Given the description of an element on the screen output the (x, y) to click on. 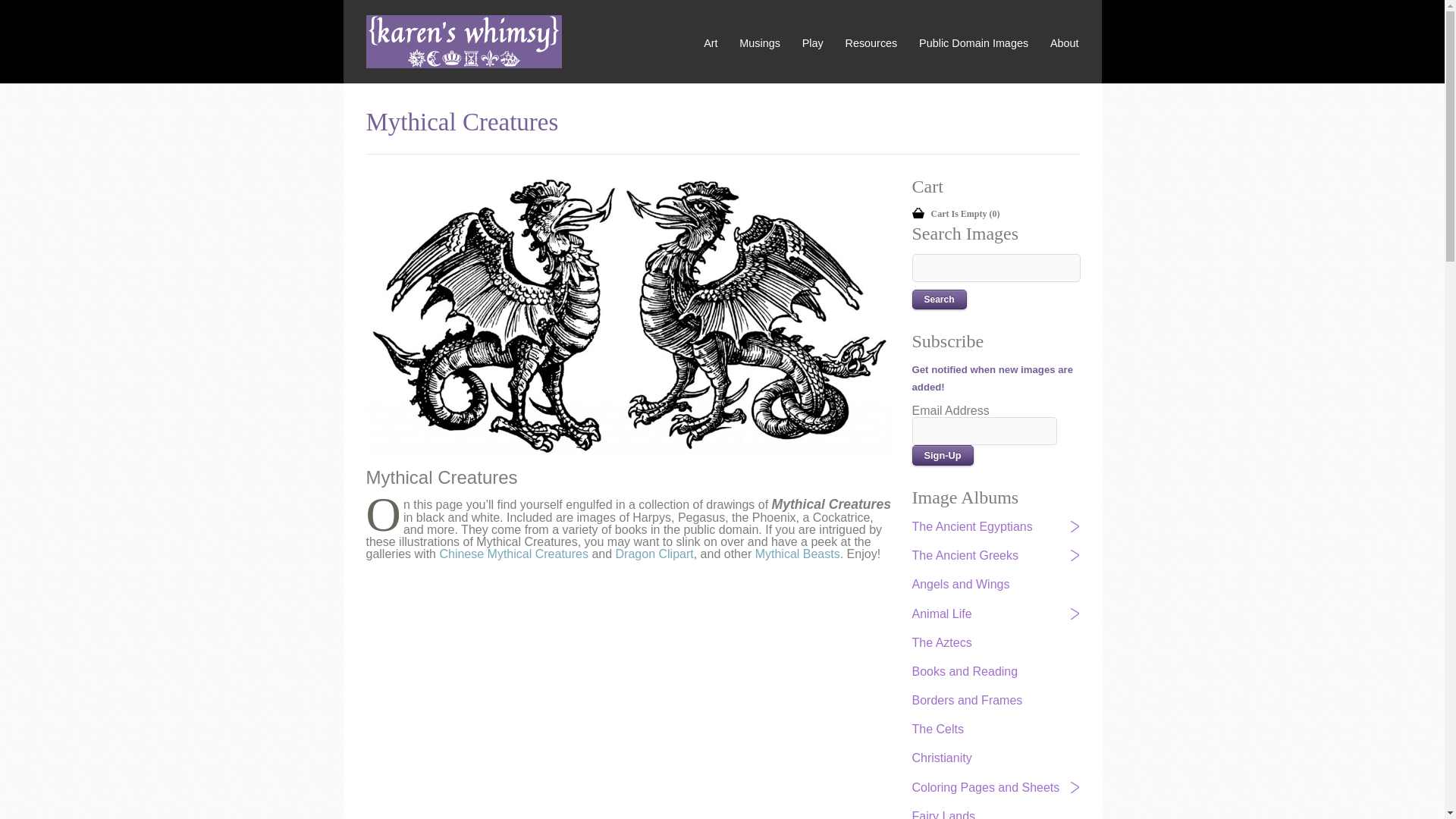
Search (938, 299)
Play (813, 43)
Resources (871, 43)
Dragon Clipart (654, 553)
Search (938, 299)
Chinese Mythical Creatures (513, 553)
Sign-Up (941, 455)
Public Domain Images (972, 43)
Musings (759, 43)
Dragon Clipart (654, 553)
About (1063, 43)
Advertisement (604, 681)
Mythical Beasts (797, 553)
Chinese Mythical Creatures (513, 553)
Mythical Beasts (797, 553)
